Given the description of an element on the screen output the (x, y) to click on. 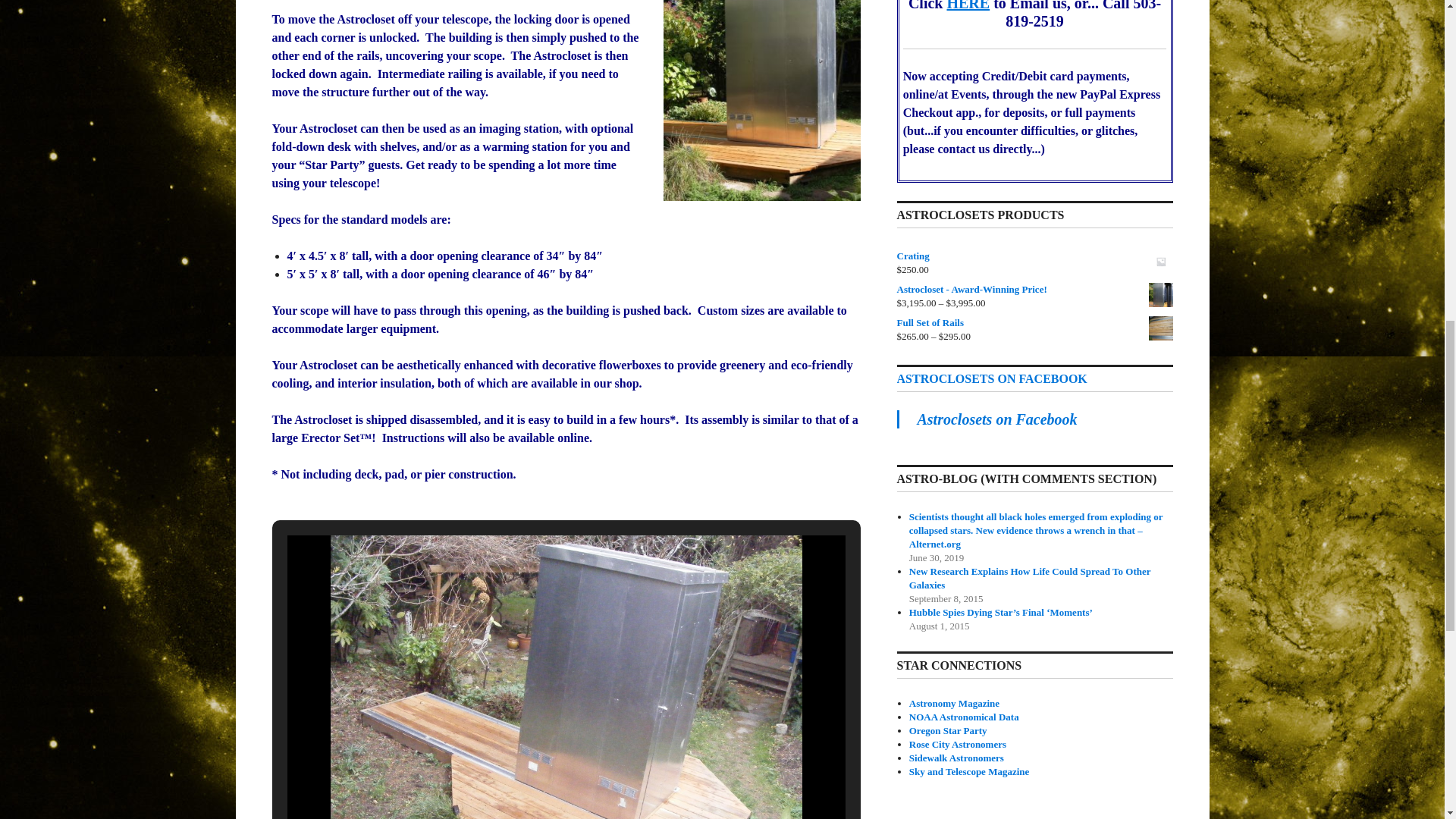
DSCF0003 (566, 677)
Full Set of Rails (1034, 323)
Astronomy Magazine (953, 703)
Oregon Star Party (947, 730)
ASTROCLOSETS ON FACEBOOK (991, 378)
Crating (1034, 255)
Astrocloset - Award-Winning Price! (1034, 289)
Astroclosets on Facebook (997, 419)
HERE (969, 5)
